Given the description of an element on the screen output the (x, y) to click on. 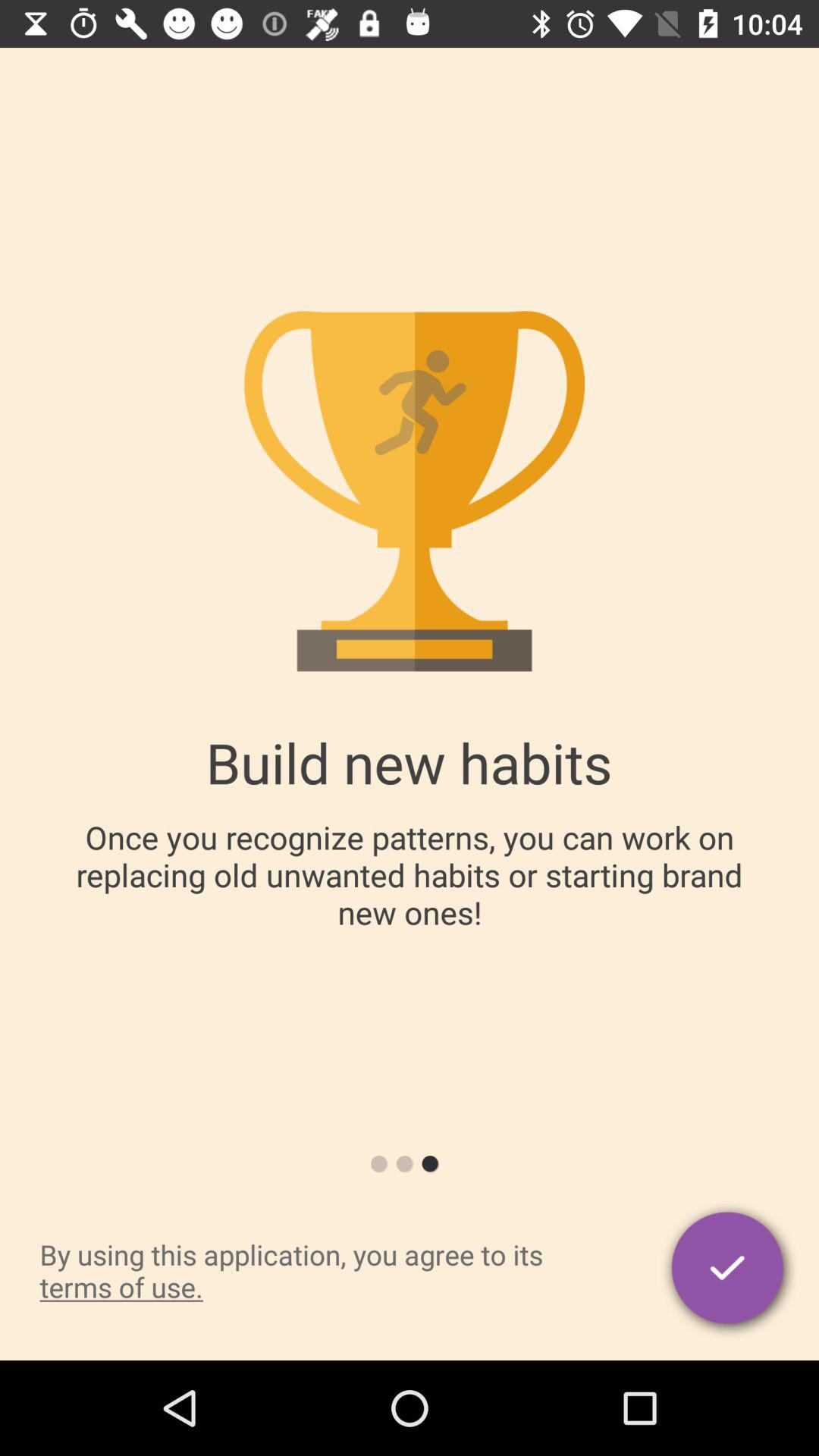
agree with terms (729, 1270)
